Given the description of an element on the screen output the (x, y) to click on. 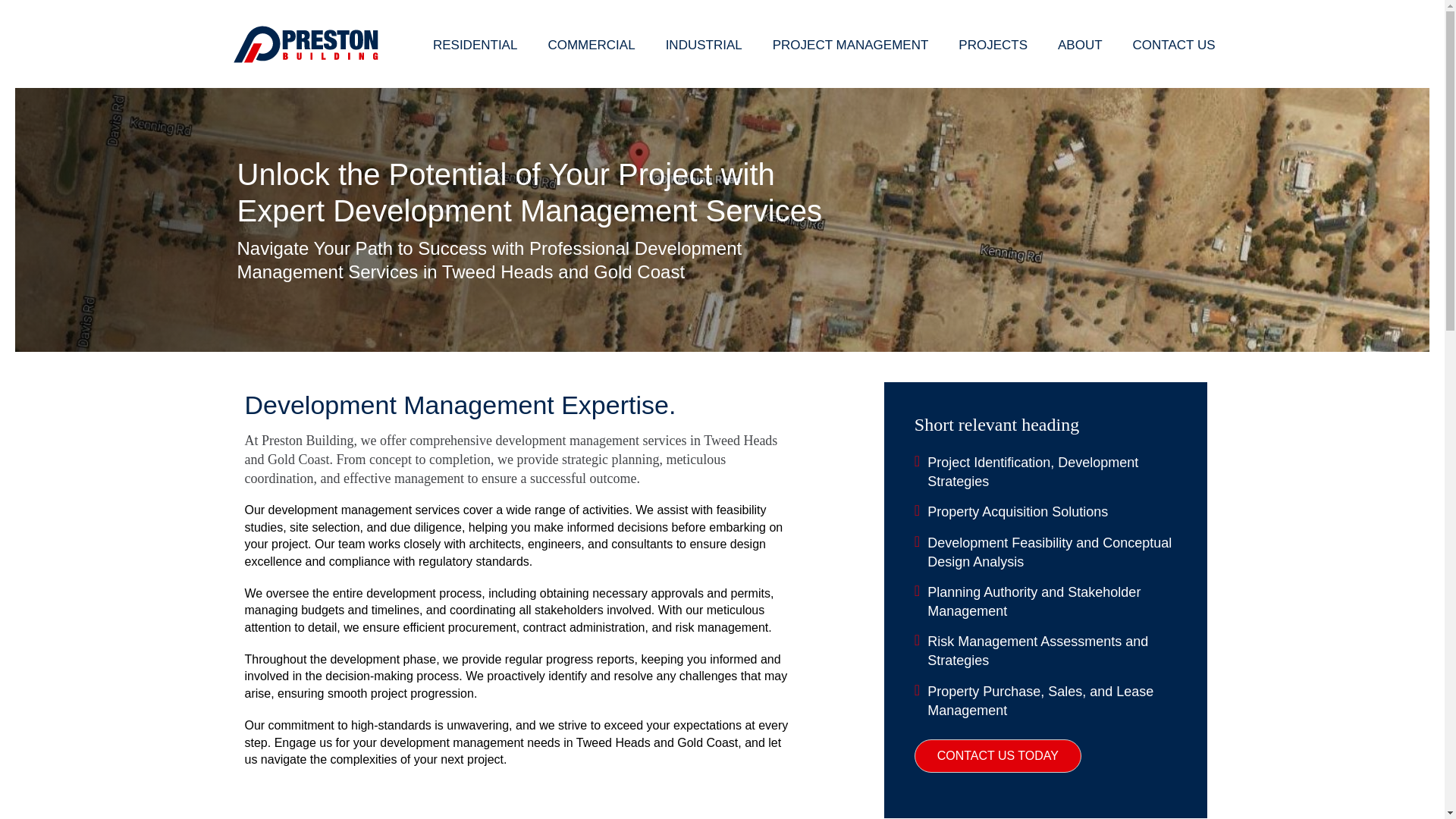
PROJECT MANAGEMENT (850, 43)
CONTACT US (1173, 43)
RESIDENTIAL (474, 43)
COMMERCIAL (590, 43)
